Given the description of an element on the screen output the (x, y) to click on. 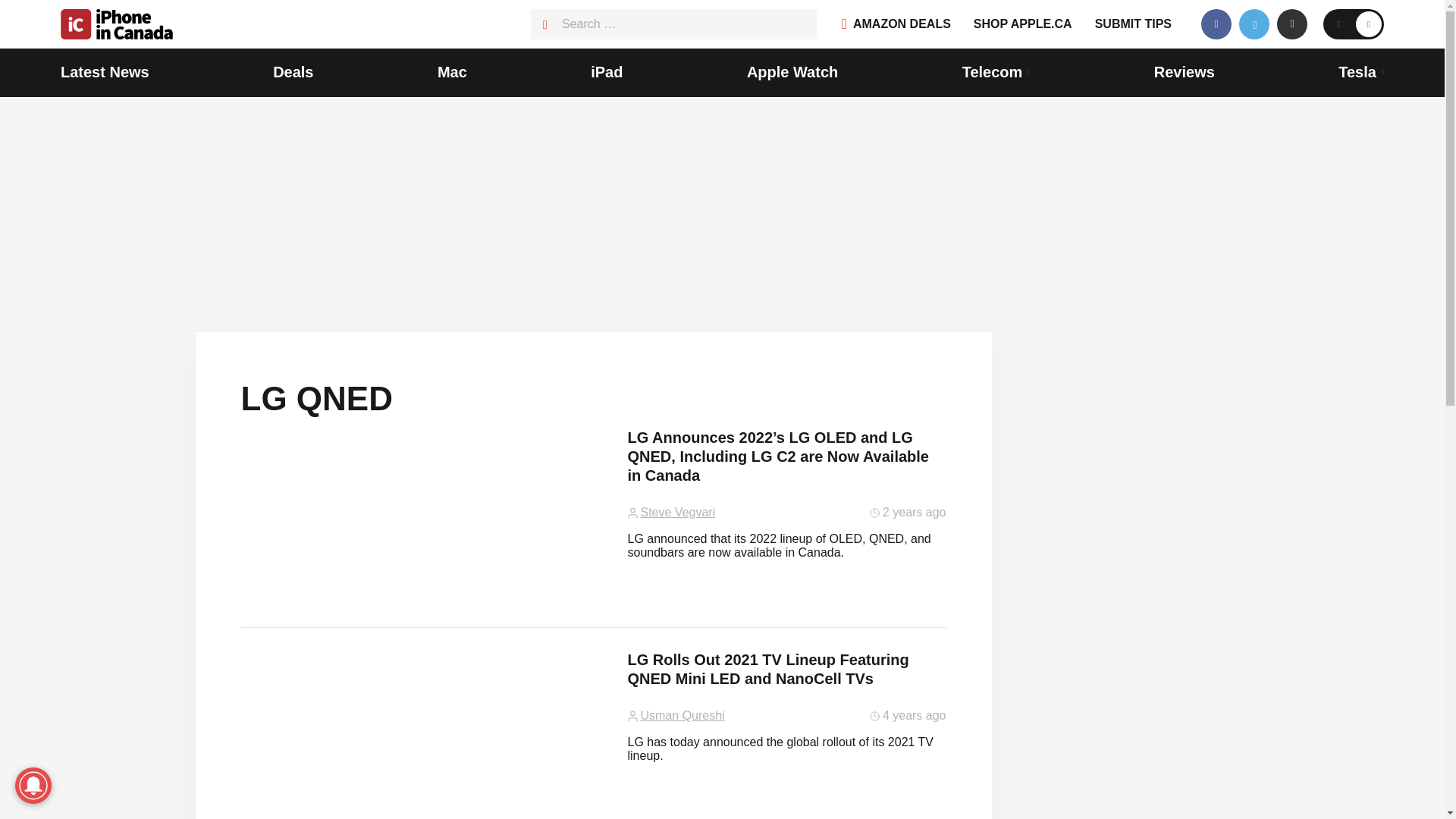
SHOP APPLE.CA (1022, 23)
Reviews (1184, 72)
Steve Vegvari (677, 512)
Latest News (105, 72)
SUBMIT TIPS (1133, 23)
Apple Watch (792, 72)
Search for: (673, 24)
AMAZON DEALS (895, 23)
Usman Qureshi (681, 715)
